Given the description of an element on the screen output the (x, y) to click on. 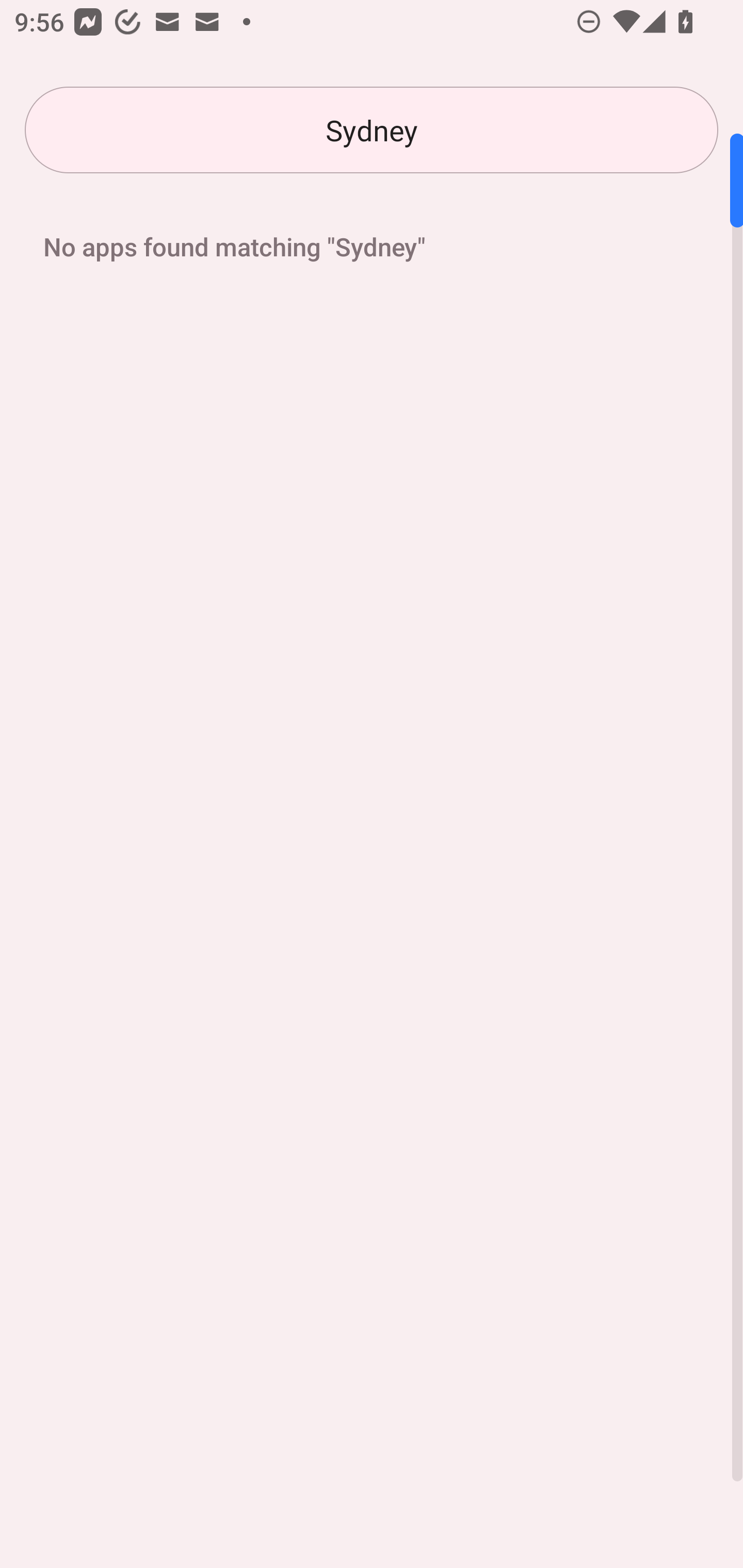
Sydney (371, 130)
